Given the description of an element on the screen output the (x, y) to click on. 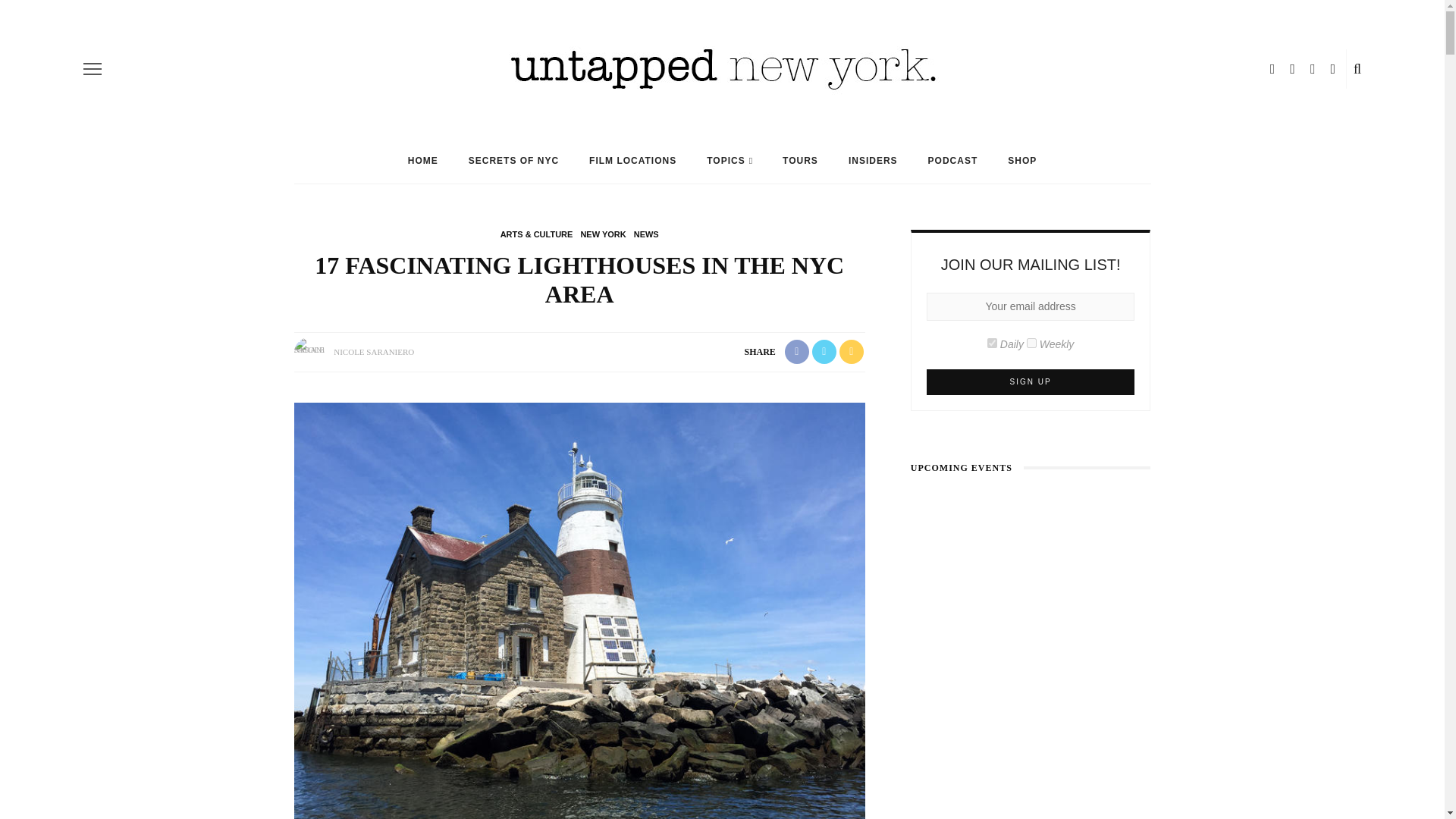
e99a09560c (992, 343)
off canvas button (91, 68)
7cff6a70fd (1031, 343)
Sign up (1030, 381)
